Given the description of an element on the screen output the (x, y) to click on. 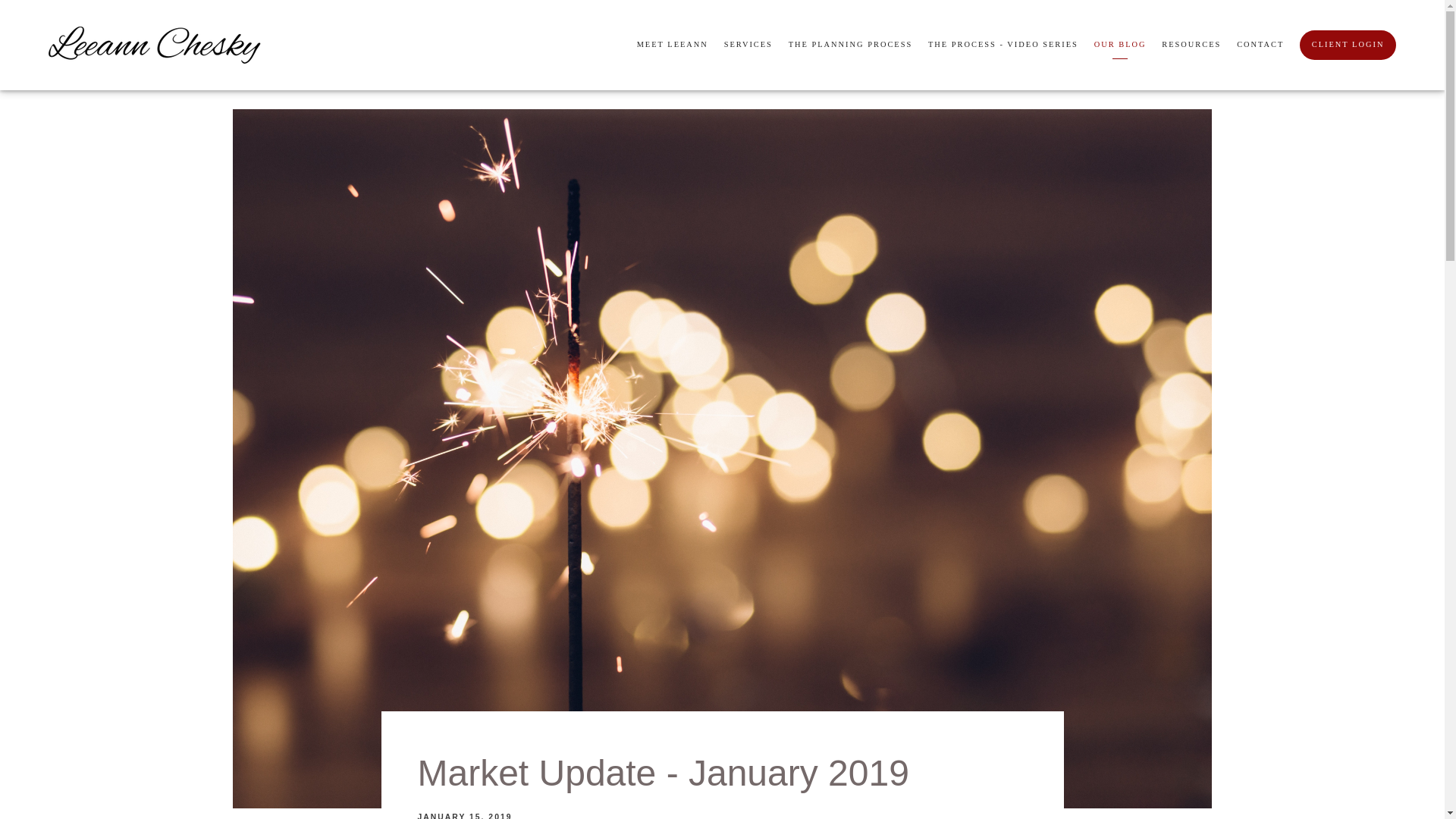
THE PROCESS - VIDEO SERIES (1003, 45)
RESOURCES (1191, 45)
SERVICES (748, 45)
OUR BLOG (1120, 45)
CONTACT (1260, 45)
CLIENT LOGIN (1348, 44)
MEET LEEANN (672, 45)
THE PLANNING PROCESS (850, 45)
